Given the description of an element on the screen output the (x, y) to click on. 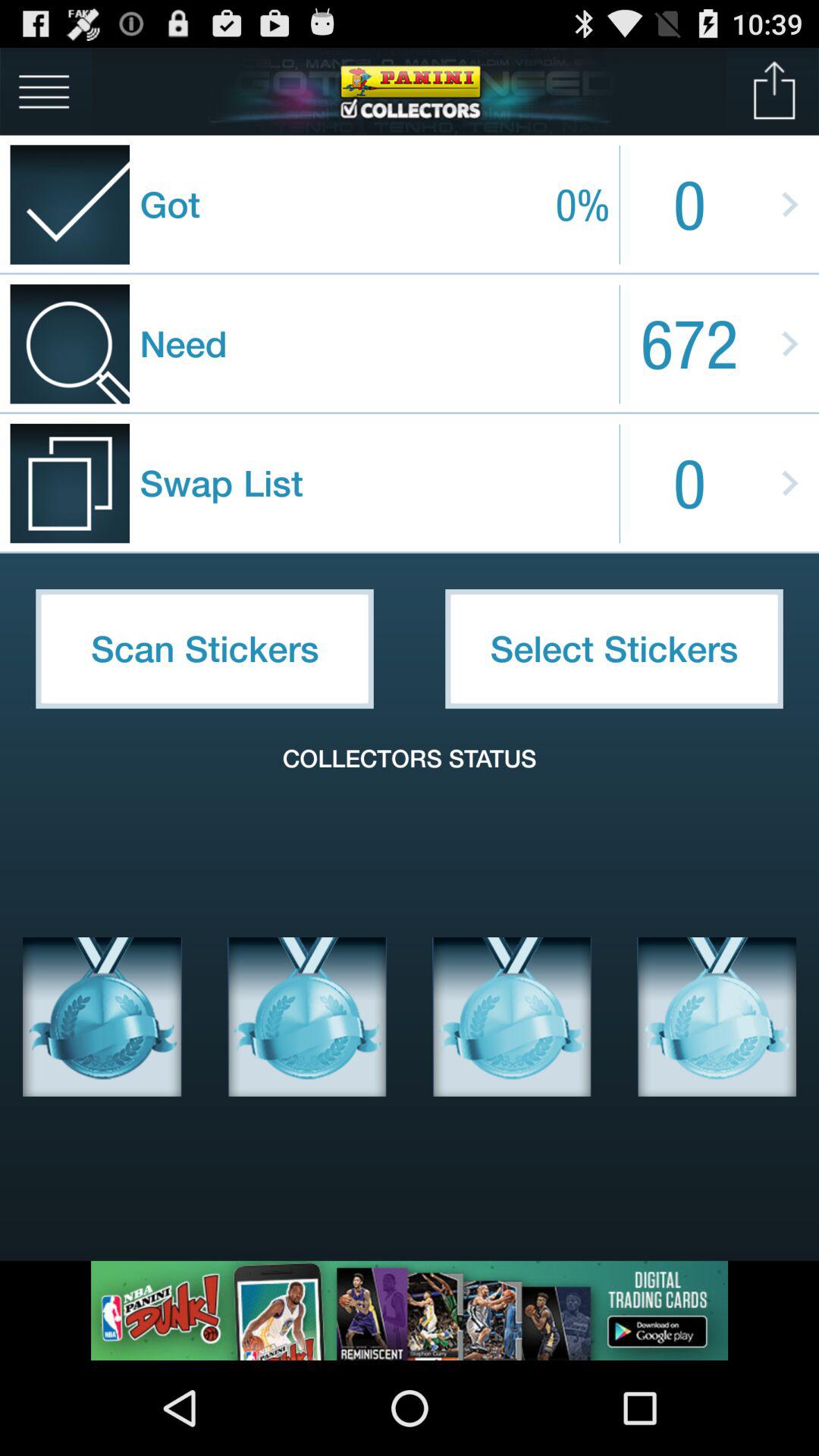
open the item next to select stickers icon (204, 648)
